Given the description of an element on the screen output the (x, y) to click on. 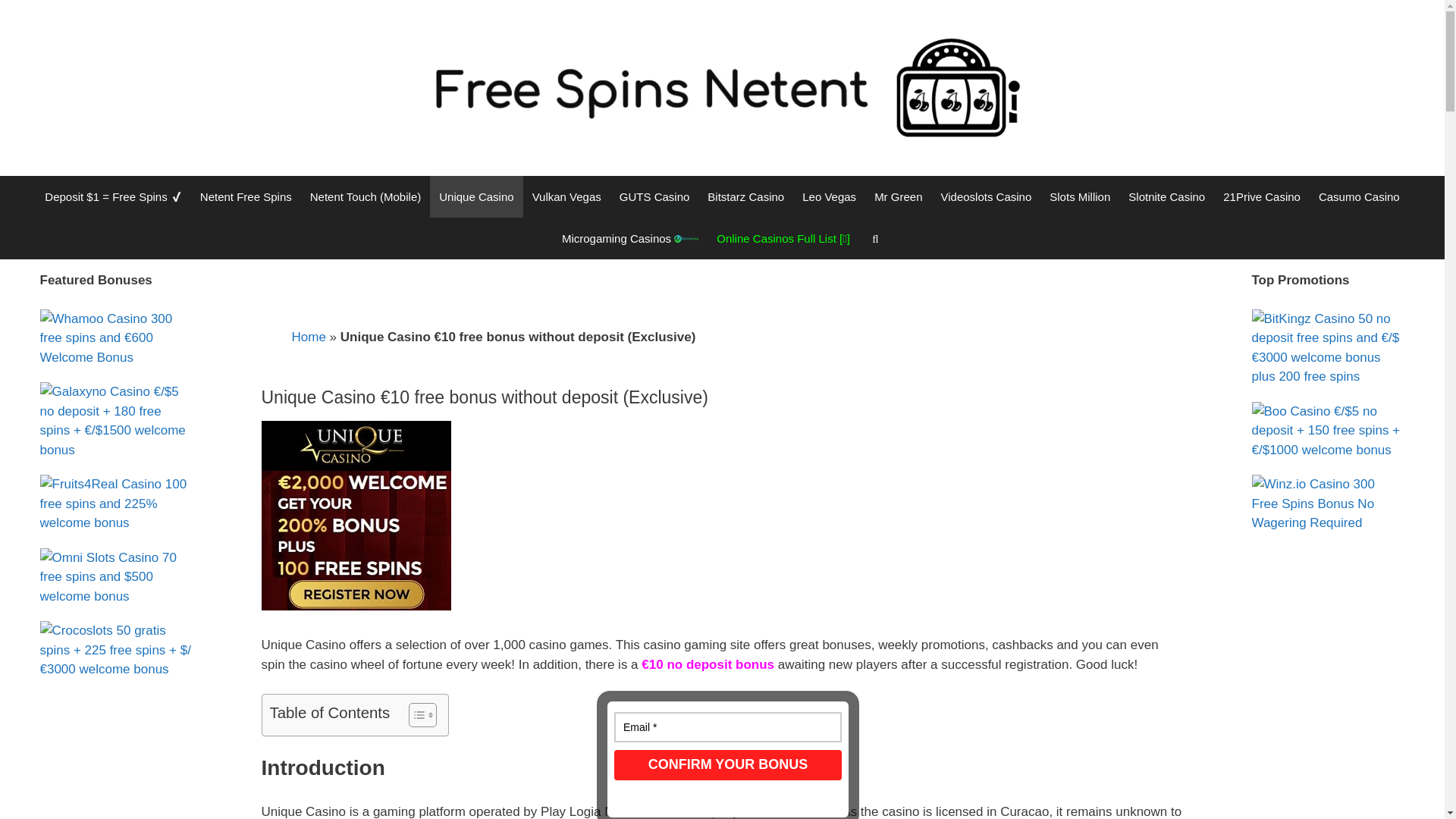
Microgaming Casinos (630, 238)
Casumo Casino (1358, 196)
Mr Green (897, 196)
Vulkan Vegas (566, 196)
Slots Million (1080, 196)
21Prive Casino (1261, 196)
GUTS Casino (654, 196)
Videoslots Casino (986, 196)
CONFIRM YOUR BONUS (728, 765)
Slotnite Casino (1166, 196)
Bitstarz Casino (745, 196)
Unique Casino (475, 196)
Leo Vegas (828, 196)
Netent Free Spins (245, 196)
